Given the description of an element on the screen output the (x, y) to click on. 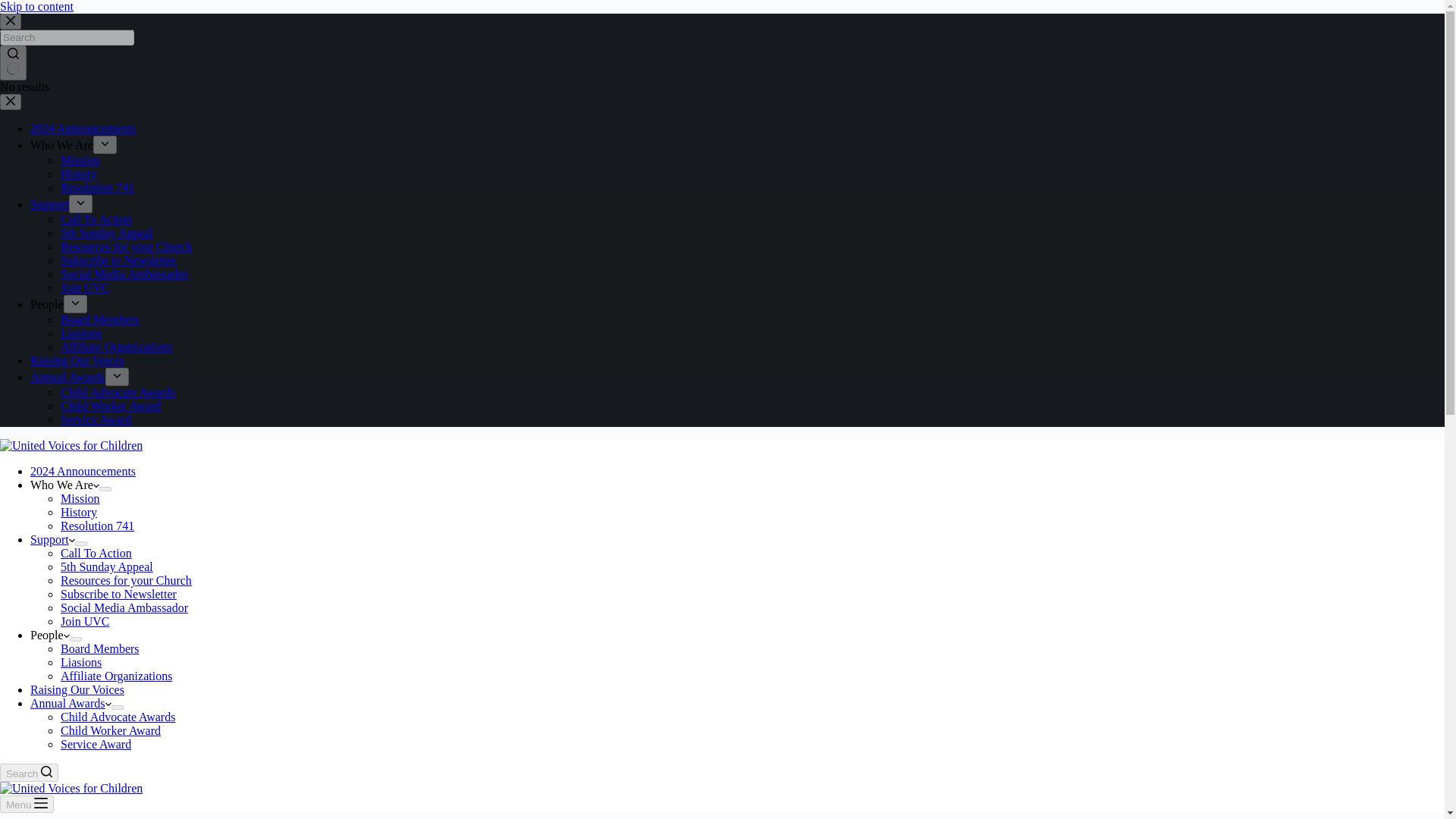
Support (49, 204)
Subscribe to Newsletter (118, 259)
Search for... (66, 37)
Liasions (81, 332)
Child Advocate Awards (117, 391)
People (47, 304)
Call To Action (96, 219)
5th Sunday Appeal (106, 232)
2024 Announcements (82, 128)
Call To Action (96, 553)
